Given the description of an element on the screen output the (x, y) to click on. 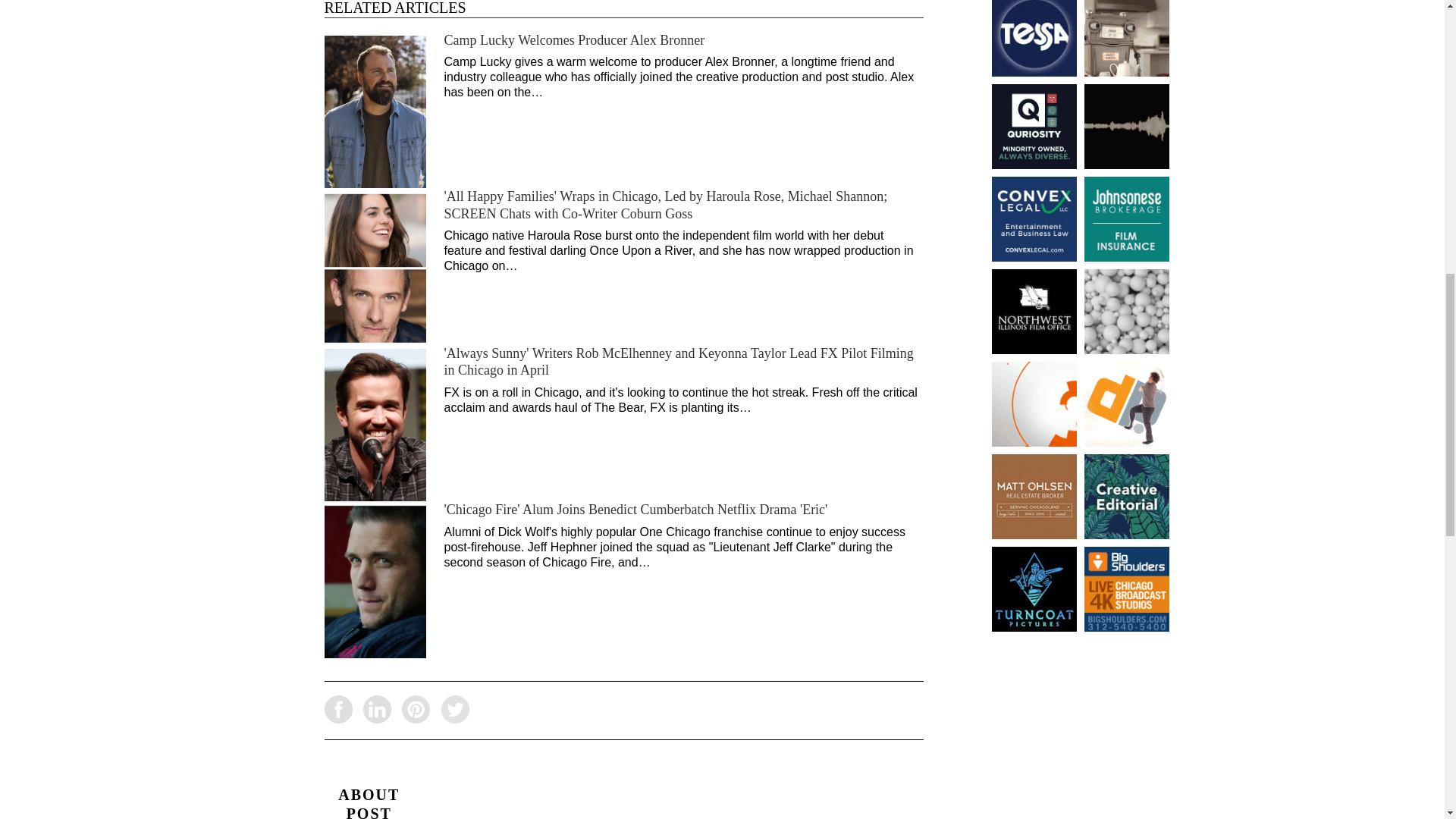
Camp Lucky Welcomes Producer Alex Bronner (574, 39)
